Given the description of an element on the screen output the (x, y) to click on. 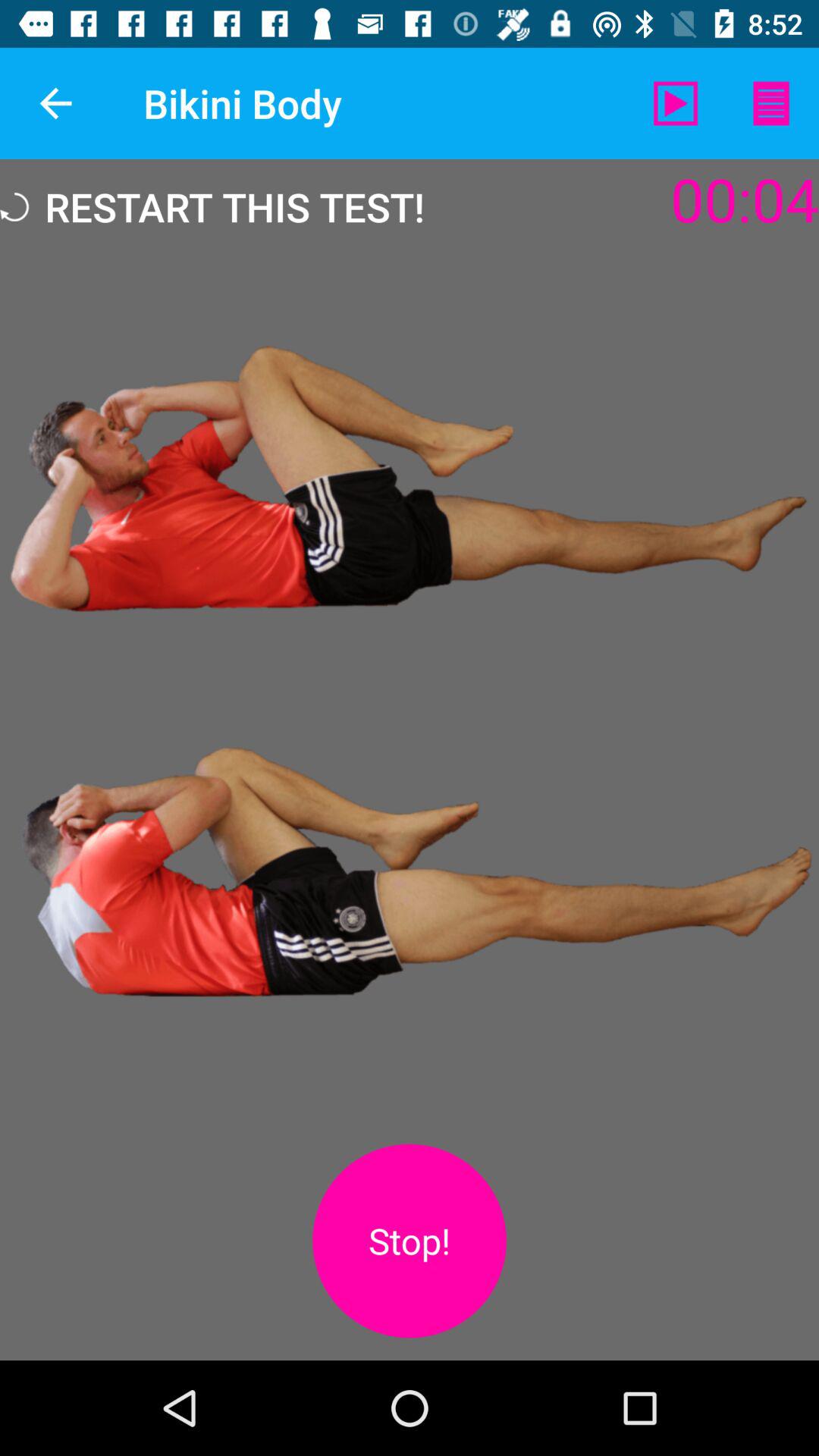
click the icon to the right of restart this test! item (675, 103)
